Given the description of an element on the screen output the (x, y) to click on. 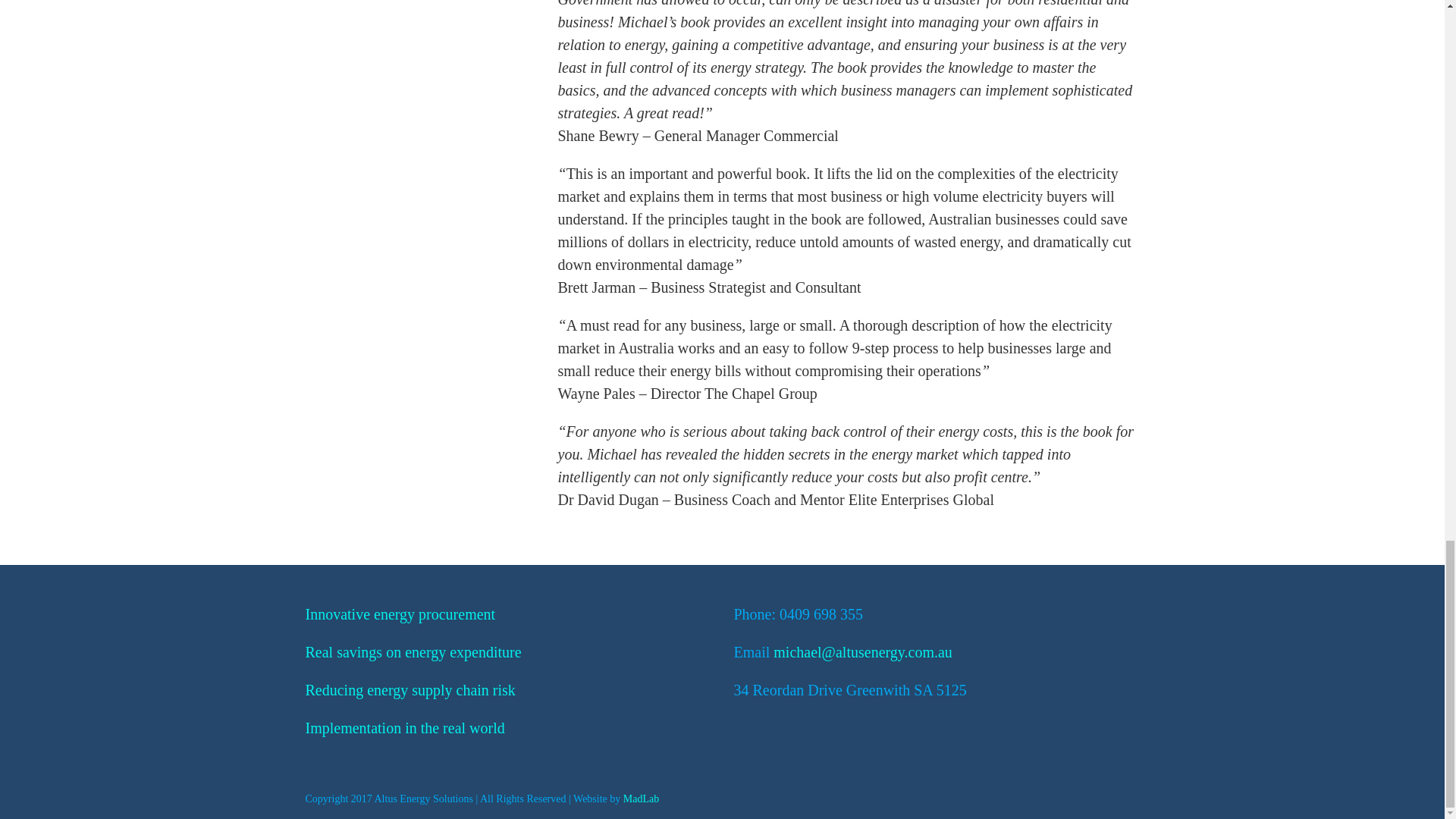
Implementation in the real world (403, 727)
Reducing energy supply chain risk (409, 689)
MadLab (641, 798)
Real savings on energy expenditure (412, 651)
Innovative energy procurement (399, 614)
